Given the description of an element on the screen output the (x, y) to click on. 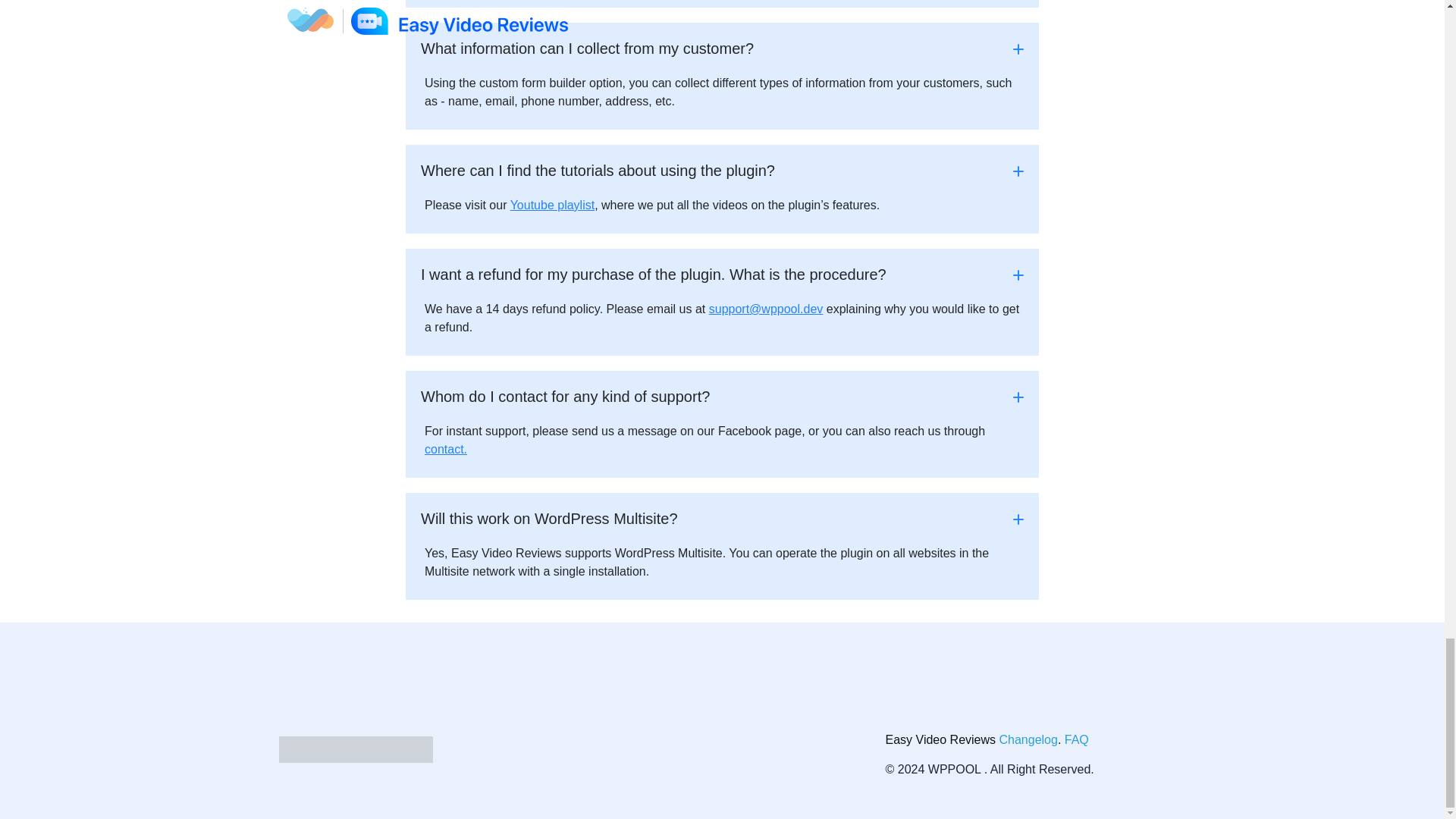
FAQ (1076, 739)
Youtube playlist (553, 205)
Changelog (1028, 739)
contact. (446, 449)
